Given the description of an element on the screen output the (x, y) to click on. 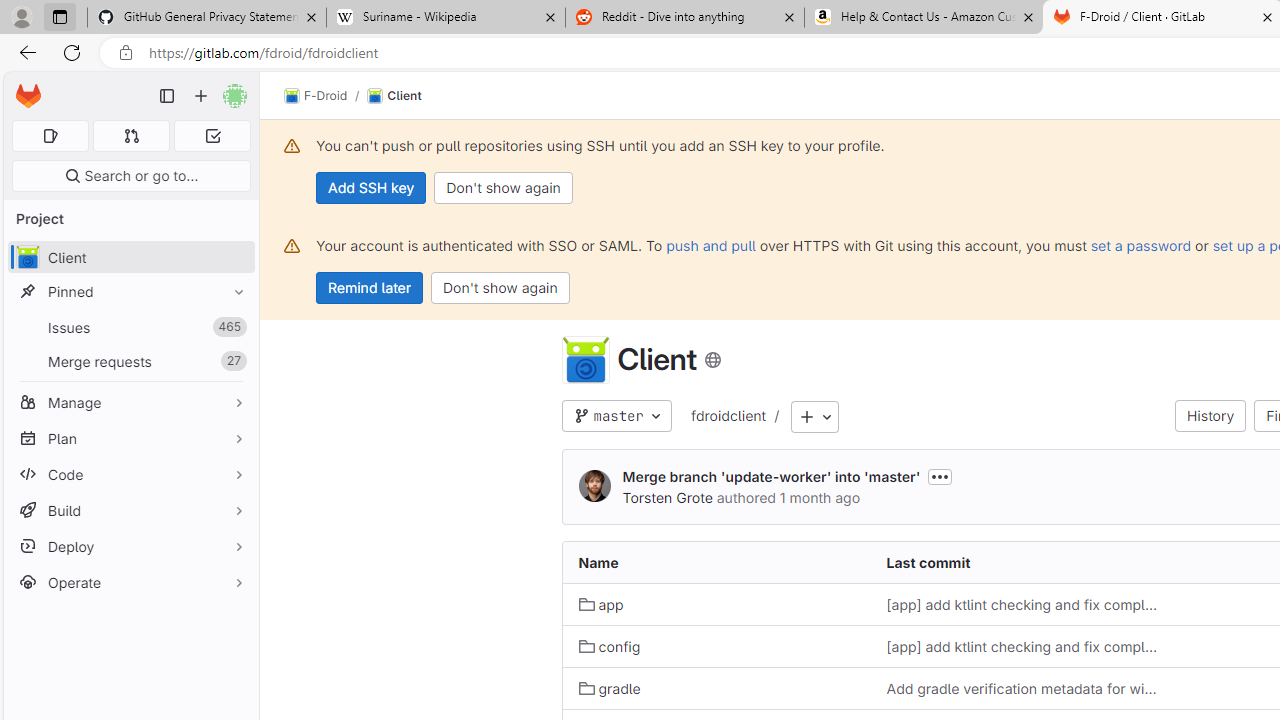
Build (130, 510)
Skip to main content (23, 87)
push and pull (710, 245)
Manage (130, 402)
fdroidclient (727, 415)
gradle (715, 687)
[app] add ktlint checking and fix complaints it has (1024, 646)
config (715, 646)
Deploy (130, 546)
Merge requests 27 (130, 361)
Torsten Grote (667, 497)
Suriname - Wikipedia (445, 17)
Reddit - Dive into anything (684, 17)
